Given the description of an element on the screen output the (x, y) to click on. 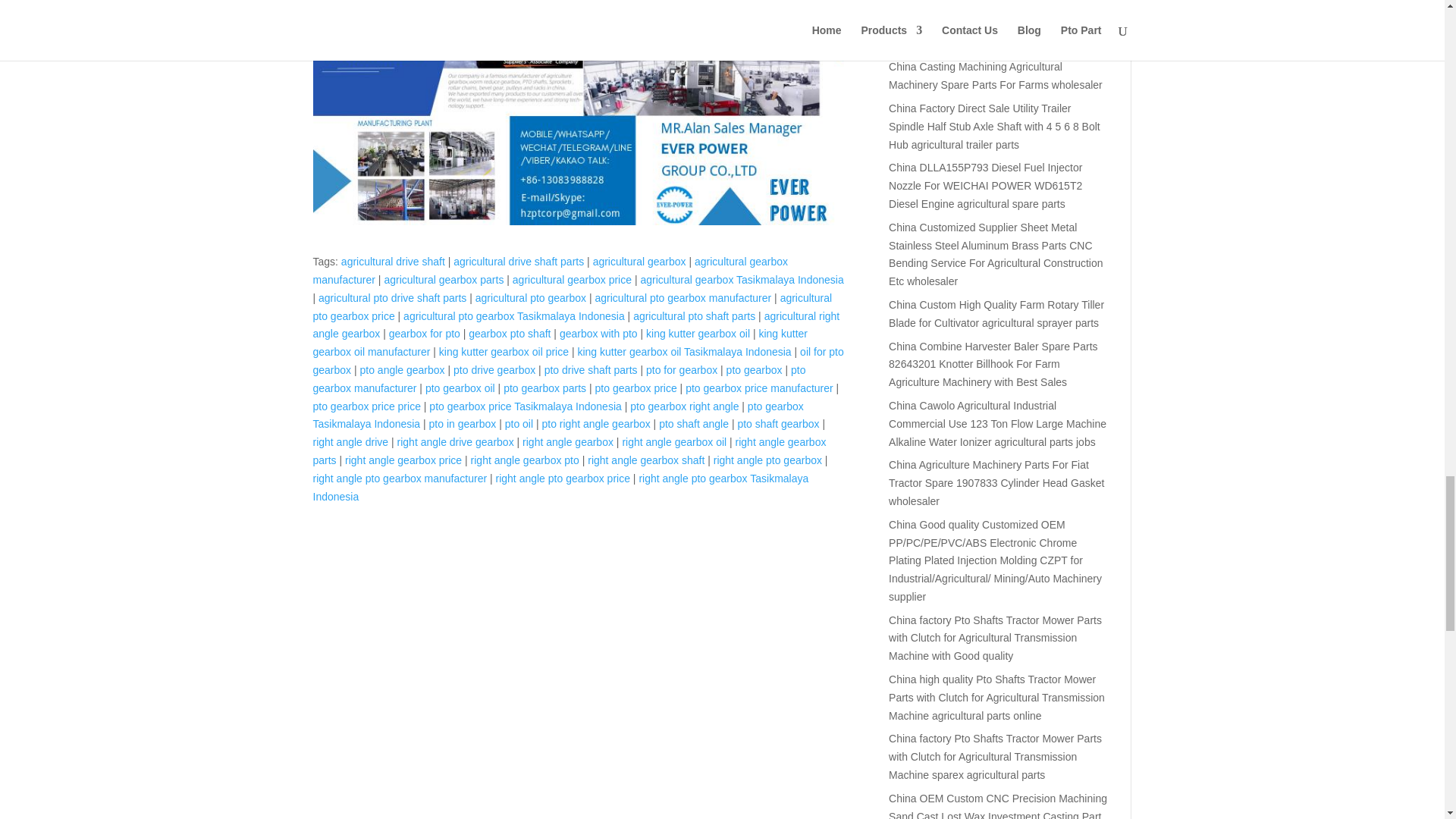
agricultural gearbox parts (443, 279)
agricultural right angle gearbox (576, 325)
agricultural gearbox (638, 261)
pto for gearbox (681, 369)
pto drive shaft parts (590, 369)
pto gearbox (754, 369)
agricultural pto shaft parts (694, 316)
pto drive gearbox (493, 369)
agricultural drive shaft (392, 261)
king kutter gearbox oil Tasikmalaya Indonesia (683, 351)
